Given the description of an element on the screen output the (x, y) to click on. 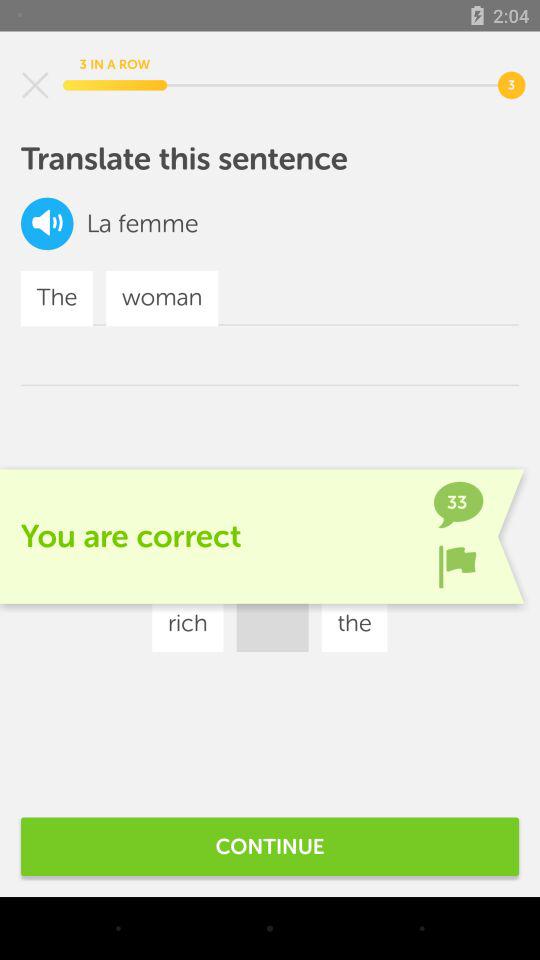
choose item next to the woman (293, 563)
